Given the description of an element on the screen output the (x, y) to click on. 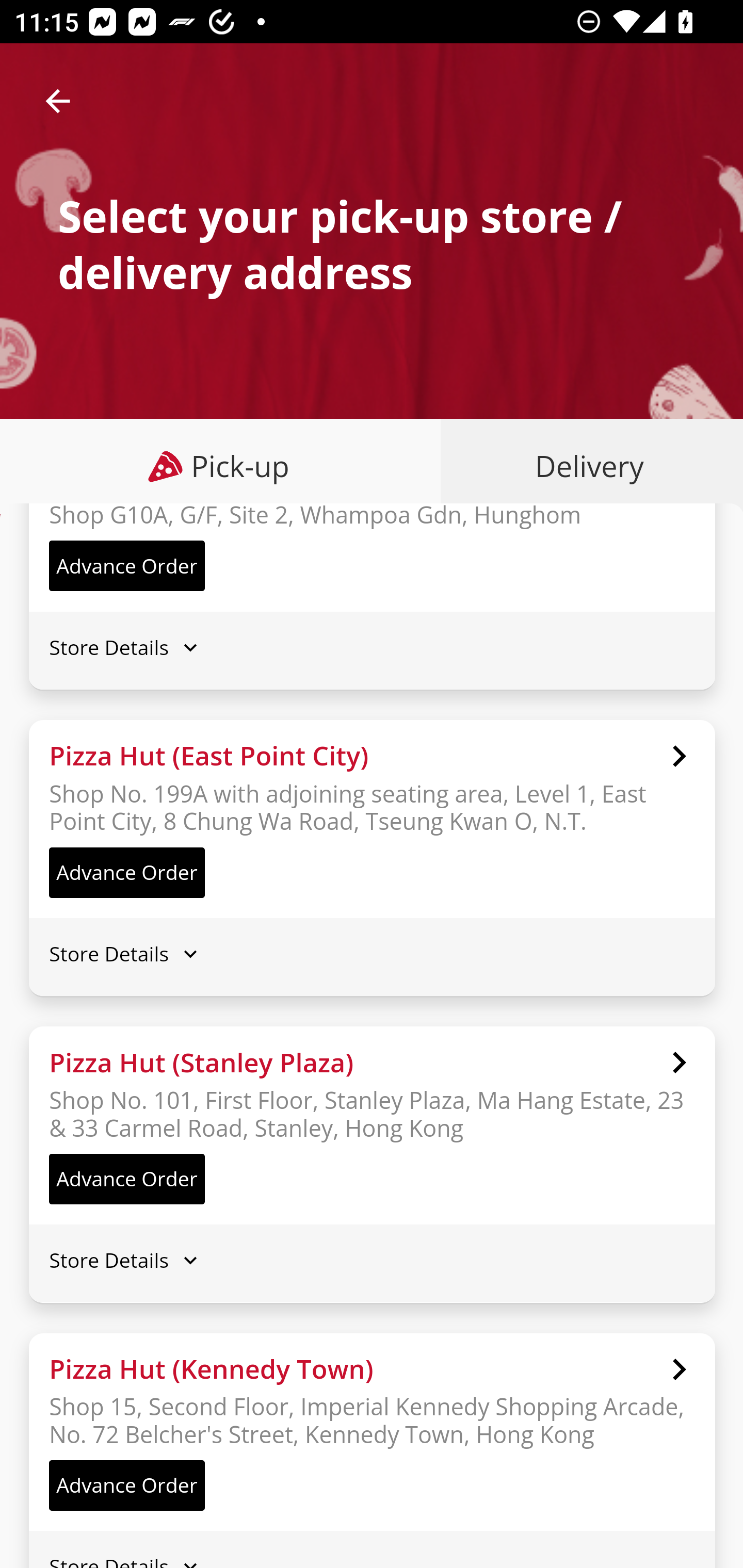
Advance Order Store Details (372, 226)
arrow_back (58, 100)
Pick-up (221, 466)
Delivery (585, 466)
Store Details (371, 646)
Store Details (371, 953)
Store Details (371, 1260)
